Given the description of an element on the screen output the (x, y) to click on. 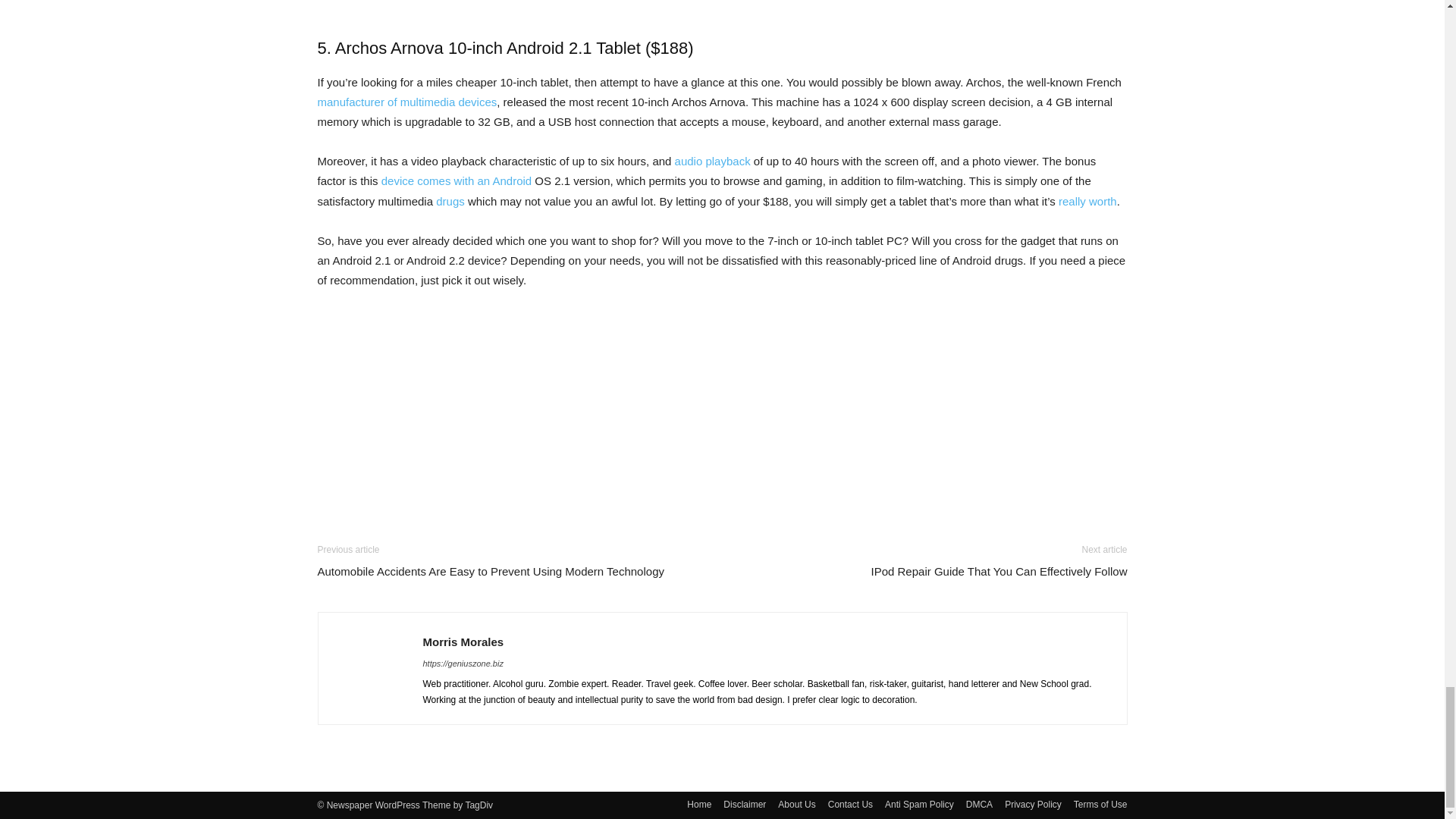
The Advantages of Amazon Kindle 3 (721, 8)
